Given the description of an element on the screen output the (x, y) to click on. 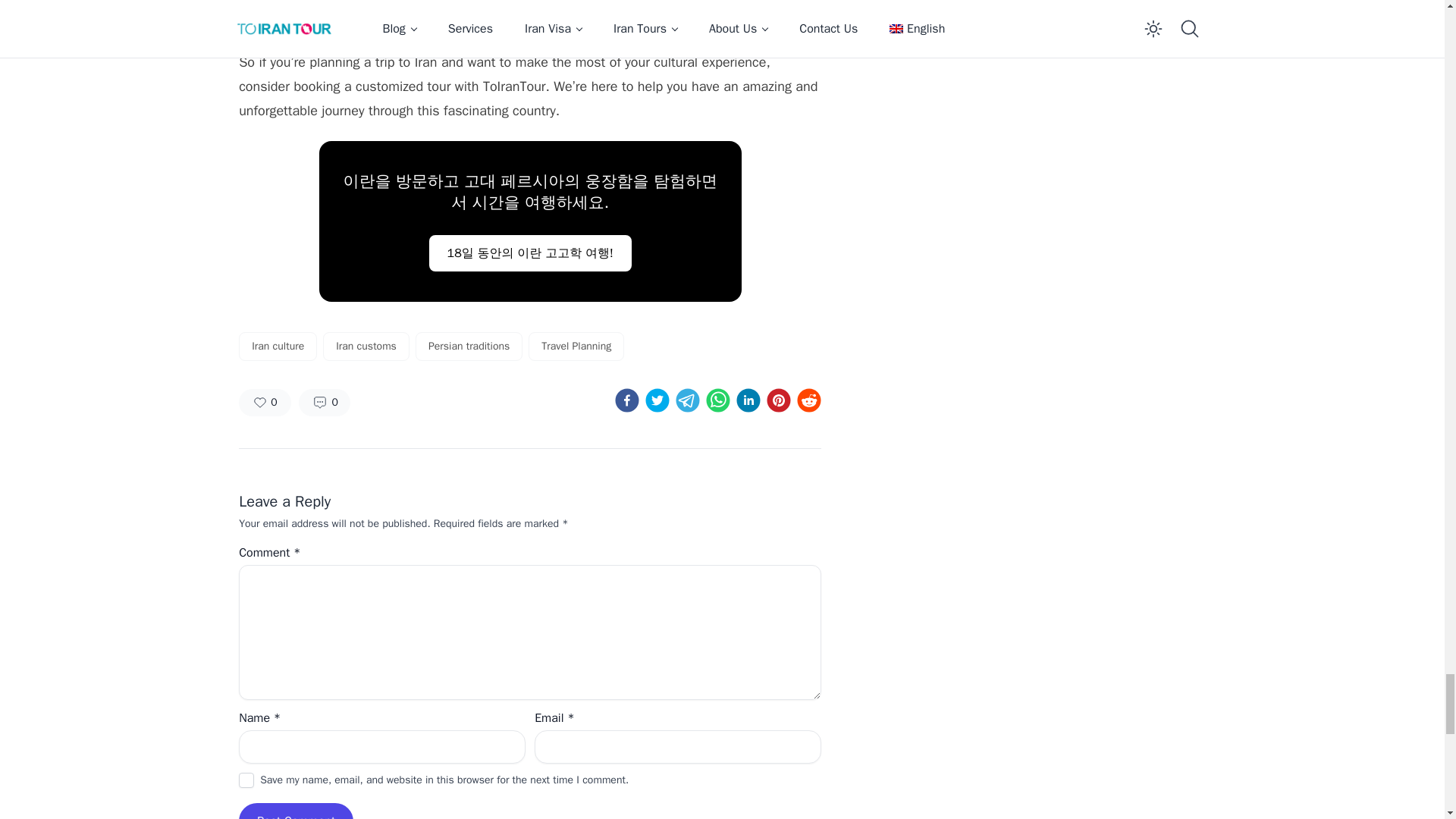
yes (245, 779)
Comments (324, 402)
Post Comment (295, 815)
